Given the description of an element on the screen output the (x, y) to click on. 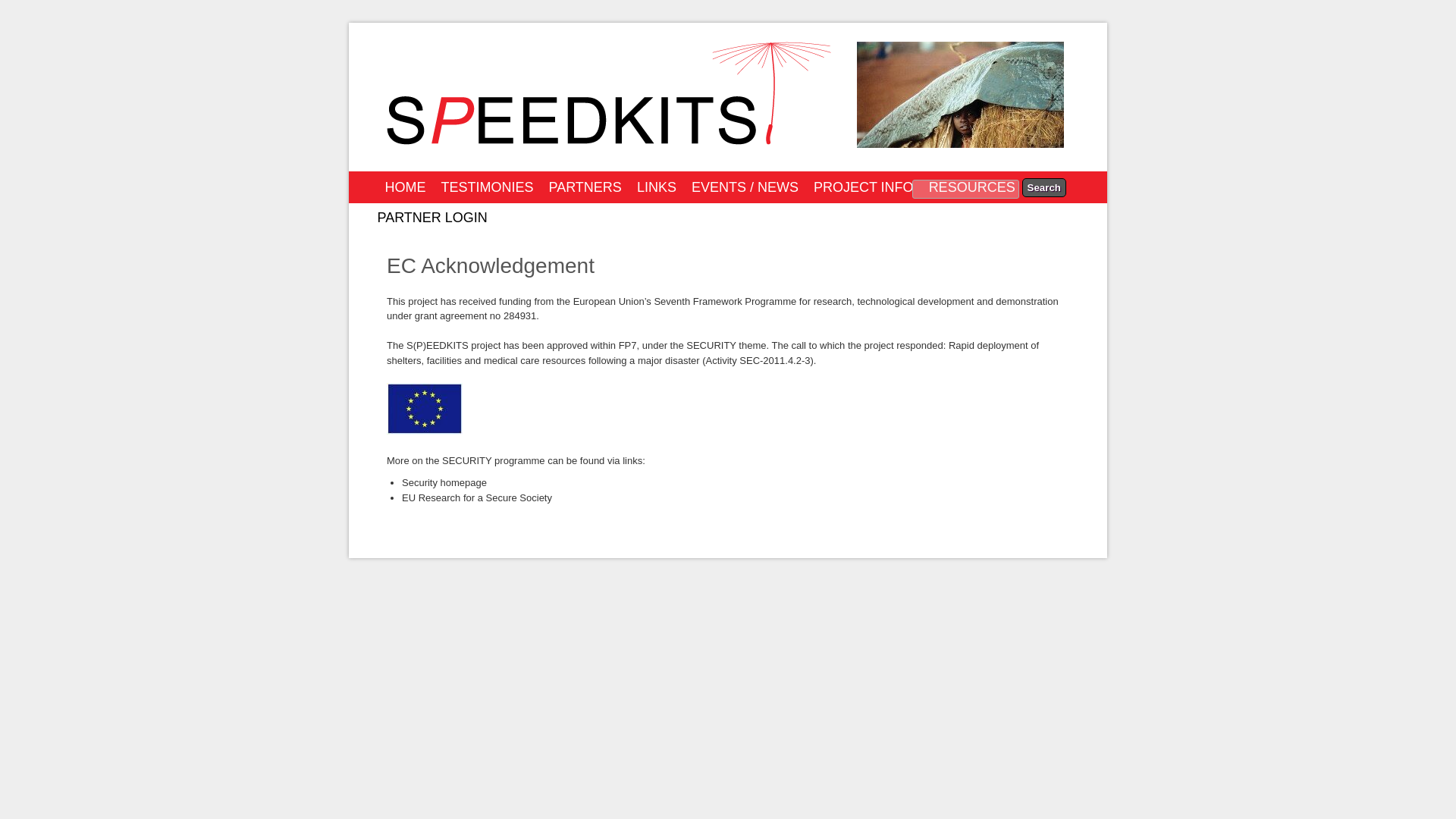
RESOURCES (972, 186)
TESTIMONIES (487, 186)
PROJECT INFO (863, 186)
PARTNERS (584, 186)
Search (1043, 186)
Search (1043, 186)
Home (960, 143)
LINKS (656, 186)
Home (609, 141)
Enter the terms you wish to search for. (965, 189)
HOME (405, 186)
